Given the description of an element on the screen output the (x, y) to click on. 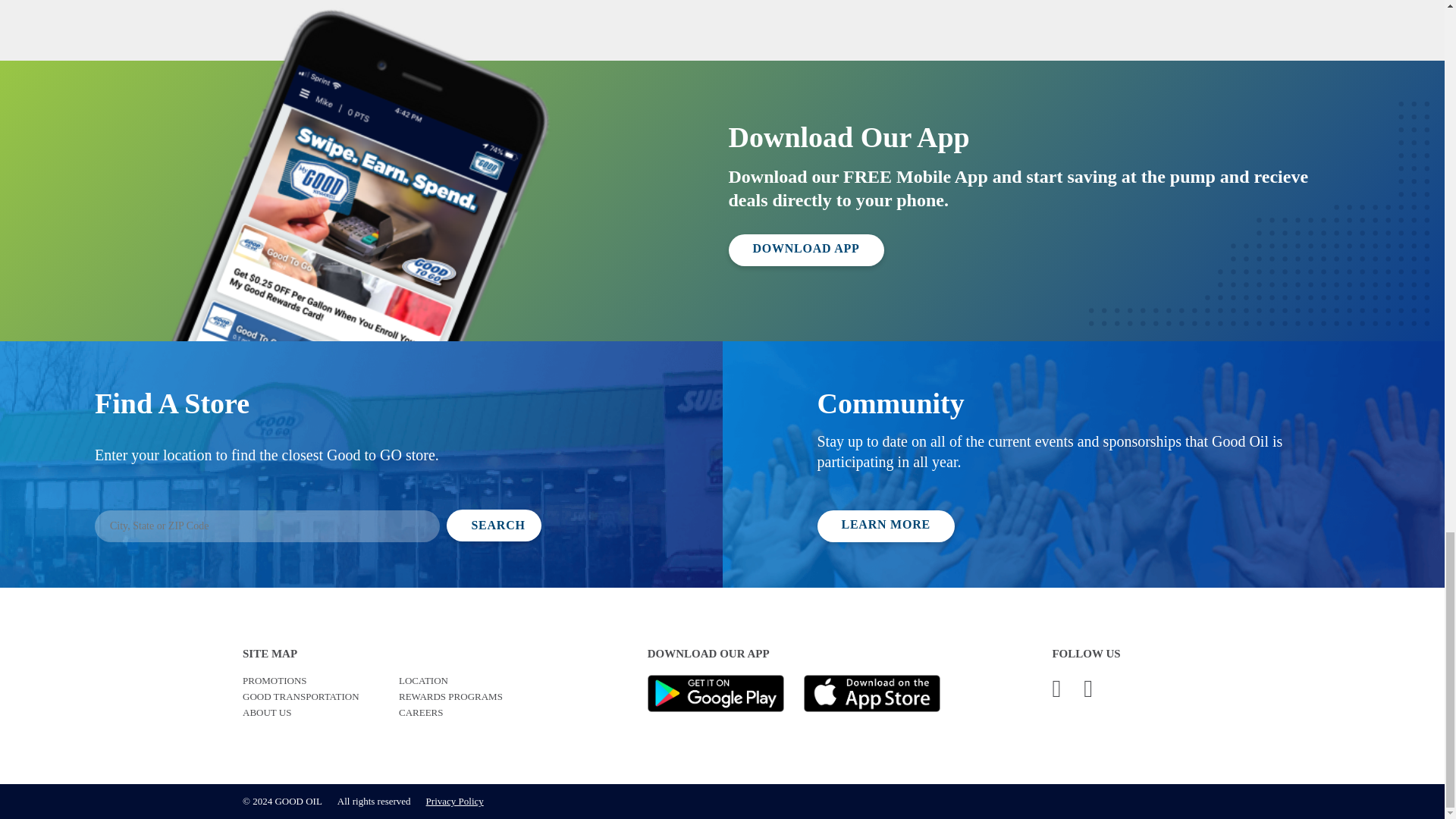
DOWNLOAD APP (805, 250)
LEARN MORE (885, 526)
SEARCH (493, 525)
